Given the description of an element on the screen output the (x, y) to click on. 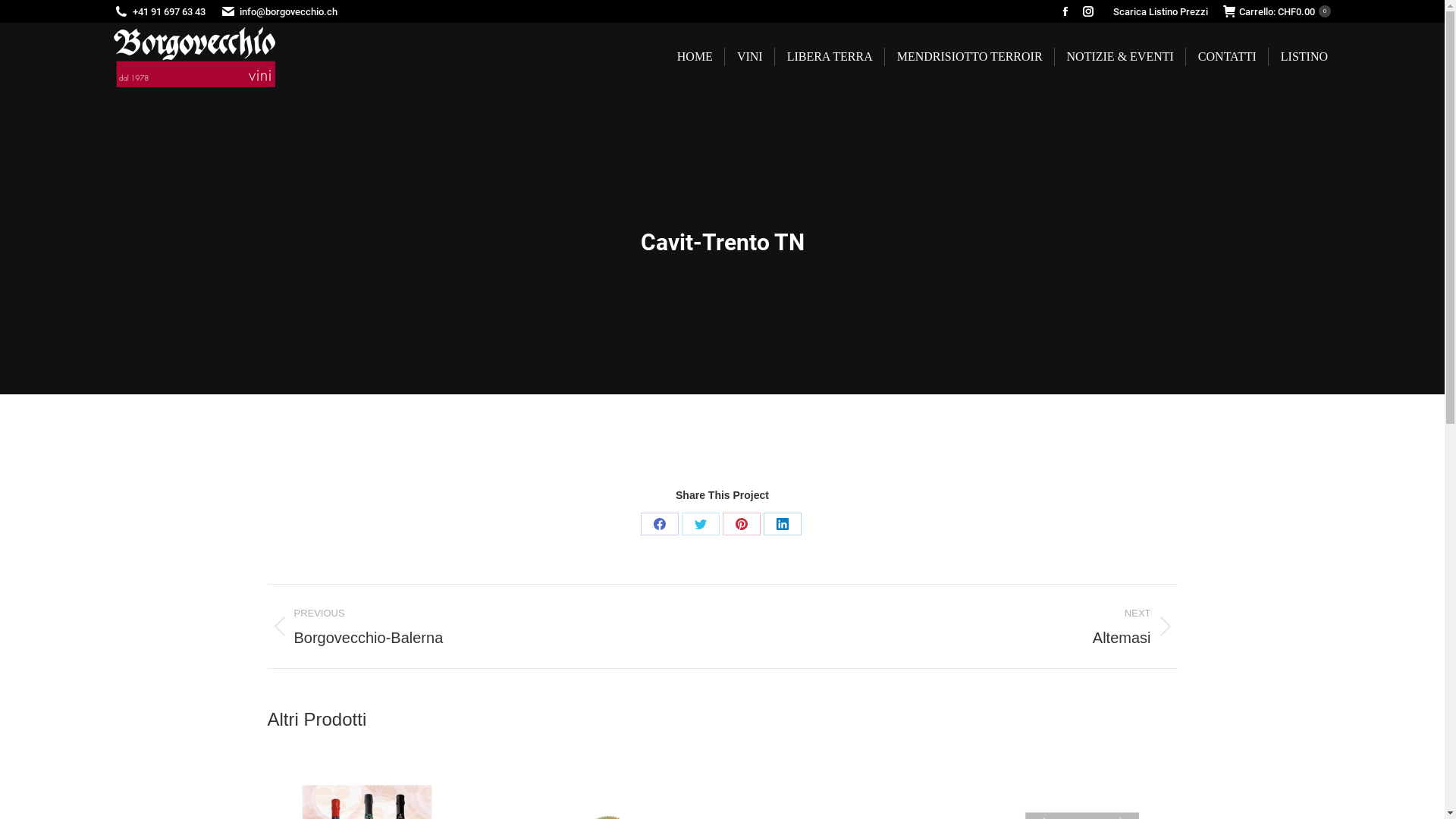
MENDRISIOTTO TERROIR Element type: text (969, 56)
Share on Pinterest Element type: text (740, 523)
Cookies Element type: text (1160, 796)
NOTIZIE & EVENTI Element type: text (1119, 56)
CONTATTI Element type: text (1227, 56)
invia Element type: text (1063, 613)
LIBERA TERRA Element type: text (829, 56)
Share on Facebook Element type: text (658, 523)
Privacy Policy Element type: text (1101, 796)
Invia Element type: text (1003, 612)
Facebook Element type: text (278, 497)
HOME Element type: text (694, 56)
Mail Element type: text (323, 497)
Share on LinkedIn Element type: text (781, 523)
Carrello: 
CHF0.00
0 Element type: text (1276, 11)
Scarica Listino Prezzi Element type: text (1160, 11)
+41 91 697 63 43 Element type: text (168, 11)
Instagram page opens in new window Element type: text (1088, 11)
VINI Element type: text (749, 56)
info@borgovecchio.ch Element type: text (288, 11)
Company Policy Element type: text (1025, 796)
LISTINO Element type: text (1303, 56)
NEXT
Next project:
Altemasi Element type: text (960, 626)
Instagram Element type: text (300, 497)
Facebook page opens in new window Element type: text (1065, 11)
PREVIOUS
Previous project:
Borgovecchio-Balerna Element type: text (482, 626)
Share on Twitter Element type: text (699, 523)
